Given the description of an element on the screen output the (x, y) to click on. 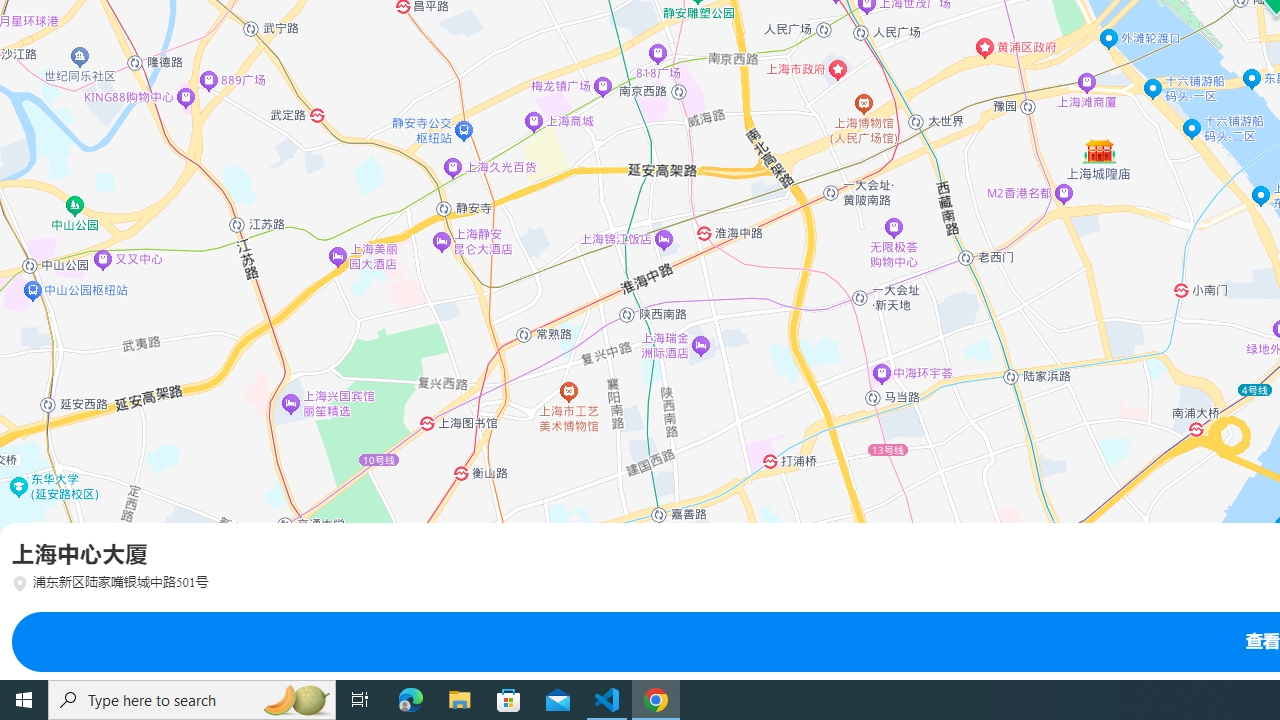
To get missing image descriptions, open the context menu. (35, 654)
